Given the description of an element on the screen output the (x, y) to click on. 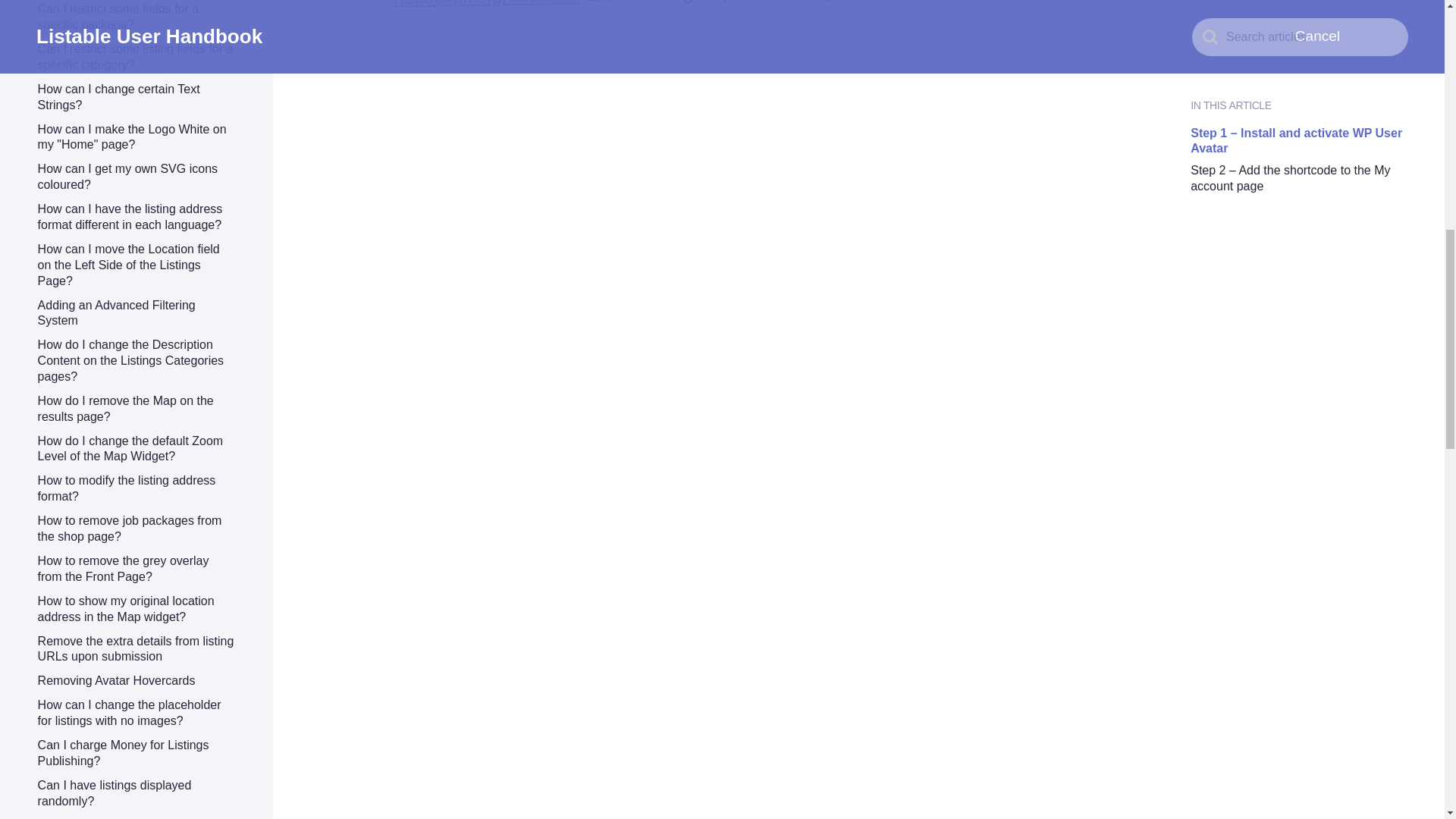
Can I restrict some listing fields for a specific category? (134, 56)
Can I restrict some fields for a specific package? (118, 16)
